Given the description of an element on the screen output the (x, y) to click on. 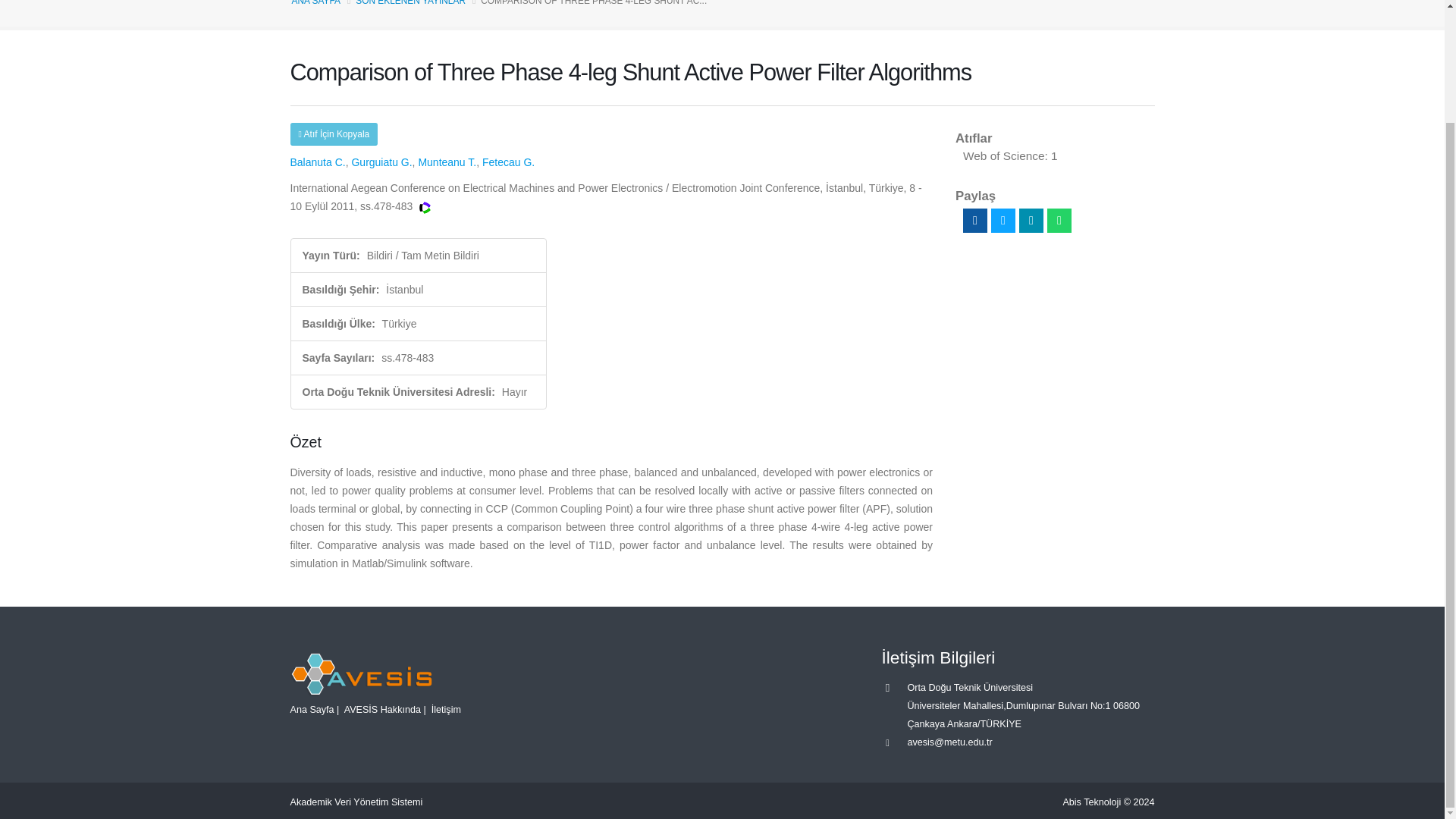
Ciprian Balanuta (317, 162)
Gelu Gurguiatu (381, 162)
Ana Sayfa (311, 708)
Grigore Fetecau (507, 162)
Abis Teknoloji (1091, 801)
Munteanu T. (446, 162)
Gurguiatu G. (381, 162)
Fetecau G. (507, 162)
Balanuta C. (317, 162)
Toader Munteanu (446, 162)
